Given the description of an element on the screen output the (x, y) to click on. 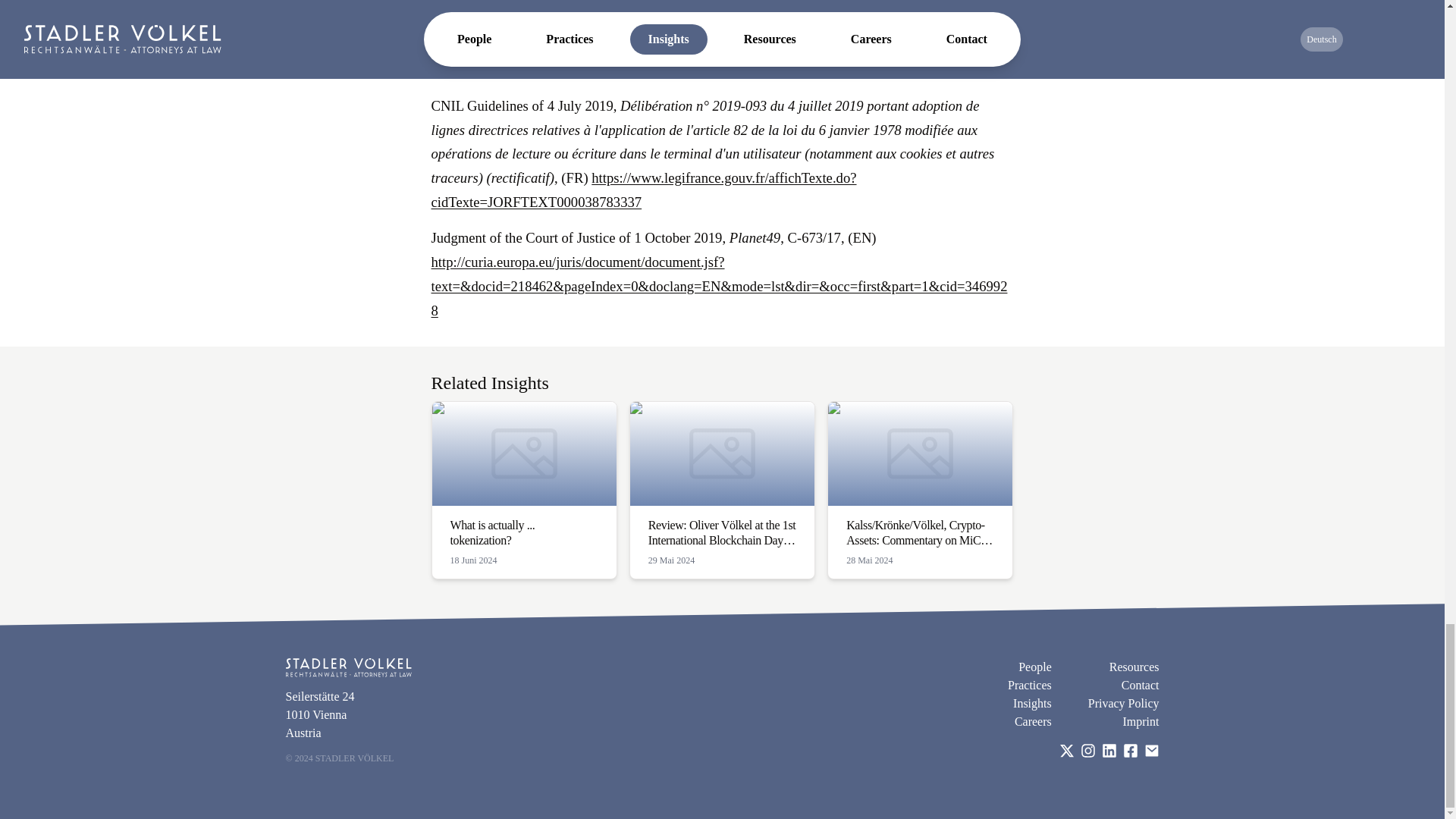
What is actually ... tokenization?  (522, 490)
Imprint (522, 490)
Careers (1140, 721)
Contact (1032, 721)
Insights (1139, 685)
Practices (1032, 703)
Resources (1029, 685)
People (1133, 667)
Privacy Policy (1034, 667)
